Given the description of an element on the screen output the (x, y) to click on. 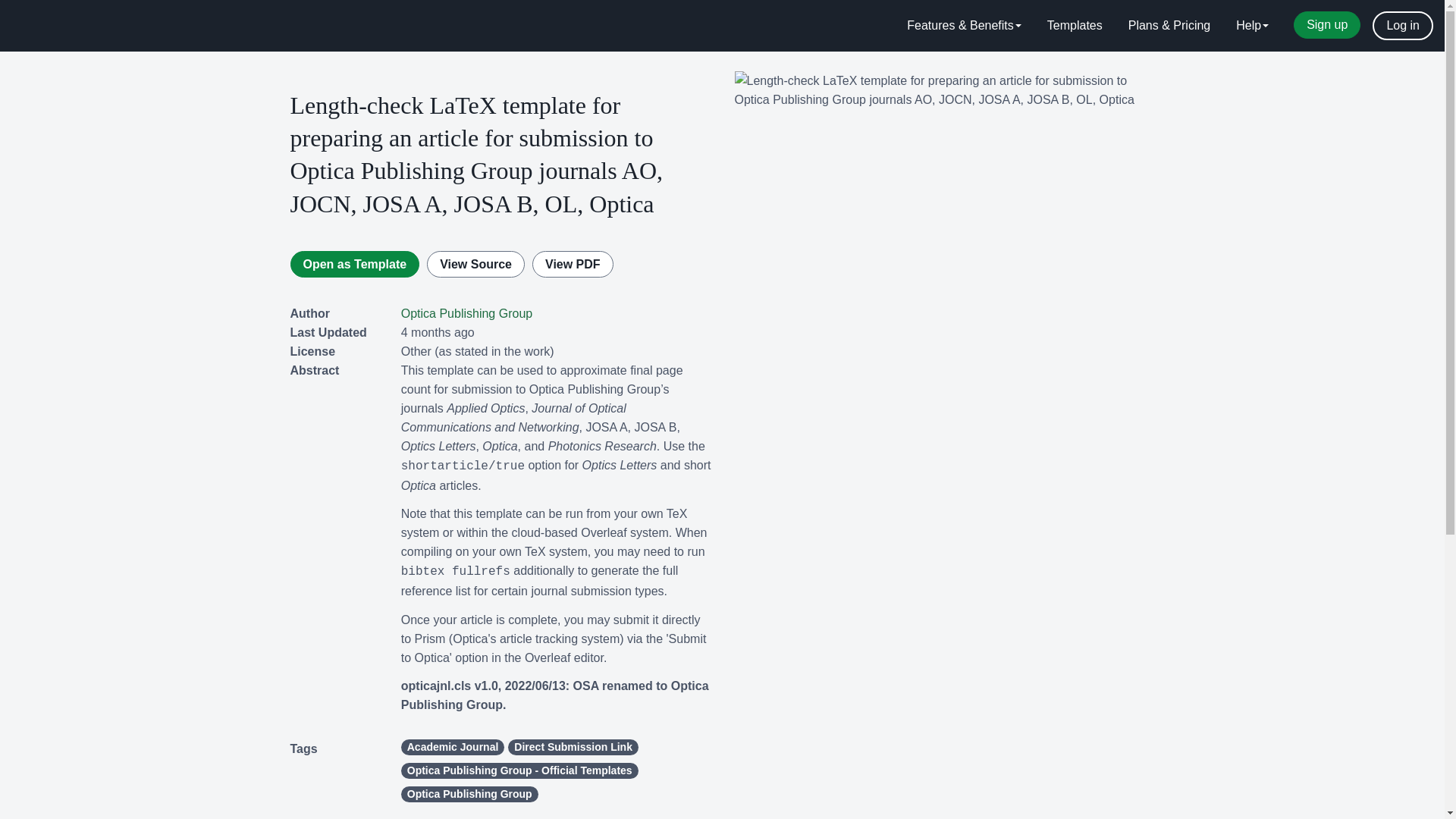
Academic Journal (453, 747)
Optica Publishing Group - Official Templates (520, 770)
Sign up (1326, 24)
Templates (1074, 25)
Direct Submission Link (573, 747)
View PDF (572, 263)
View Source (475, 263)
Optica Publishing Group (469, 794)
Optica Publishing Group (466, 313)
Log in (1402, 25)
Open as Template (354, 263)
Help (1252, 25)
